Given the description of an element on the screen output the (x, y) to click on. 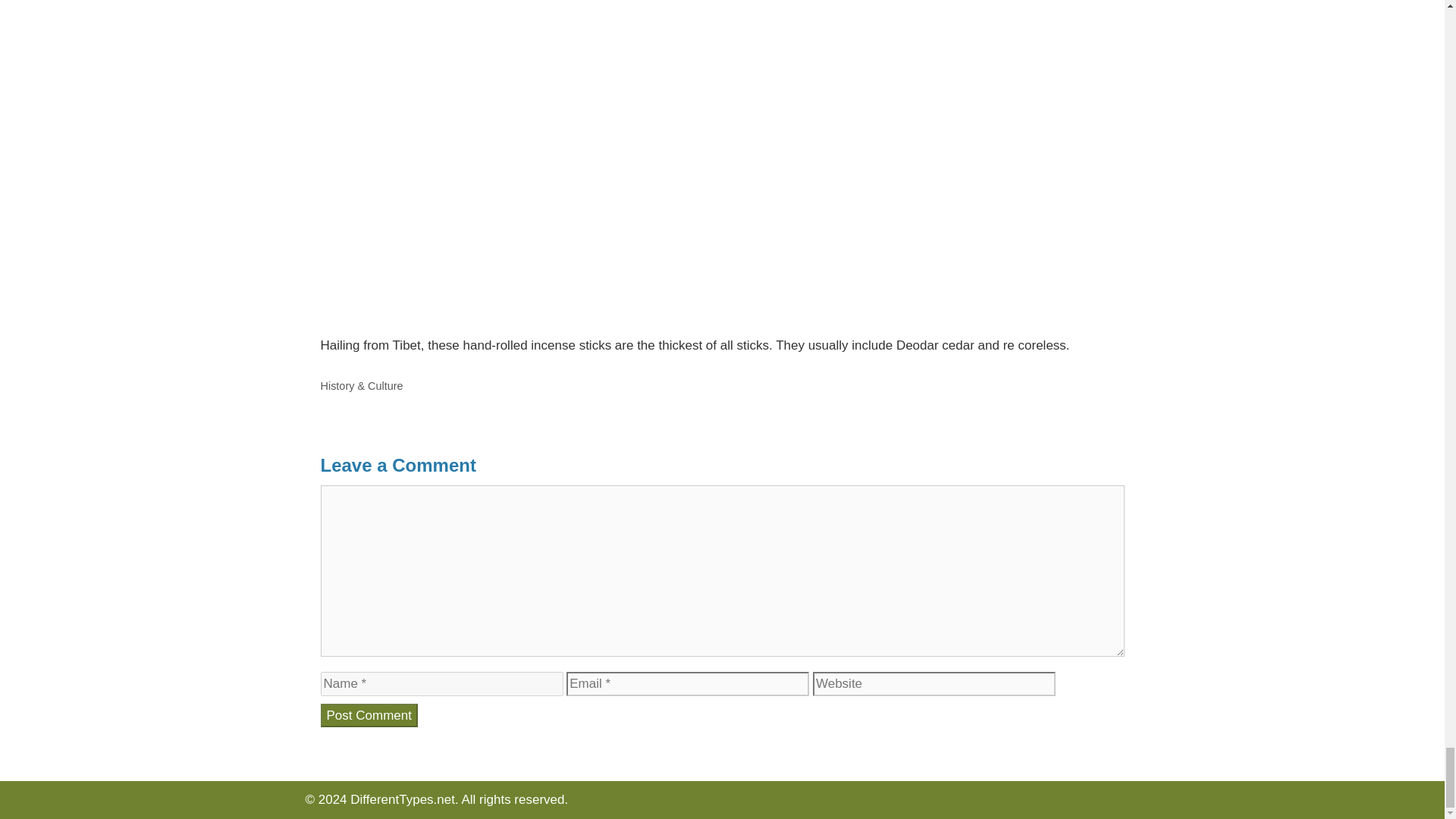
Post Comment (368, 715)
